Given the description of an element on the screen output the (x, y) to click on. 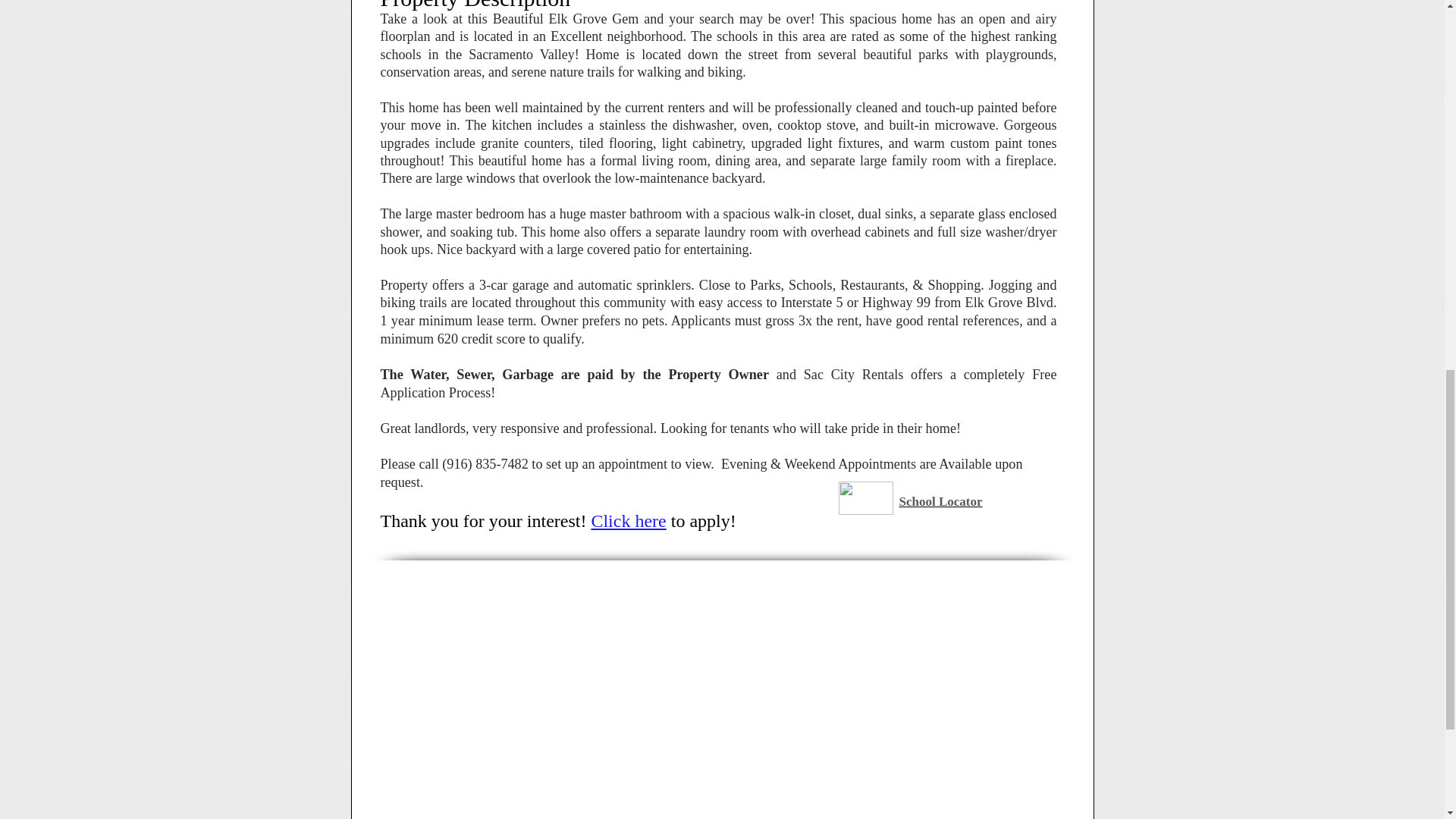
Click here (628, 520)
School Locator (940, 501)
